Given the description of an element on the screen output the (x, y) to click on. 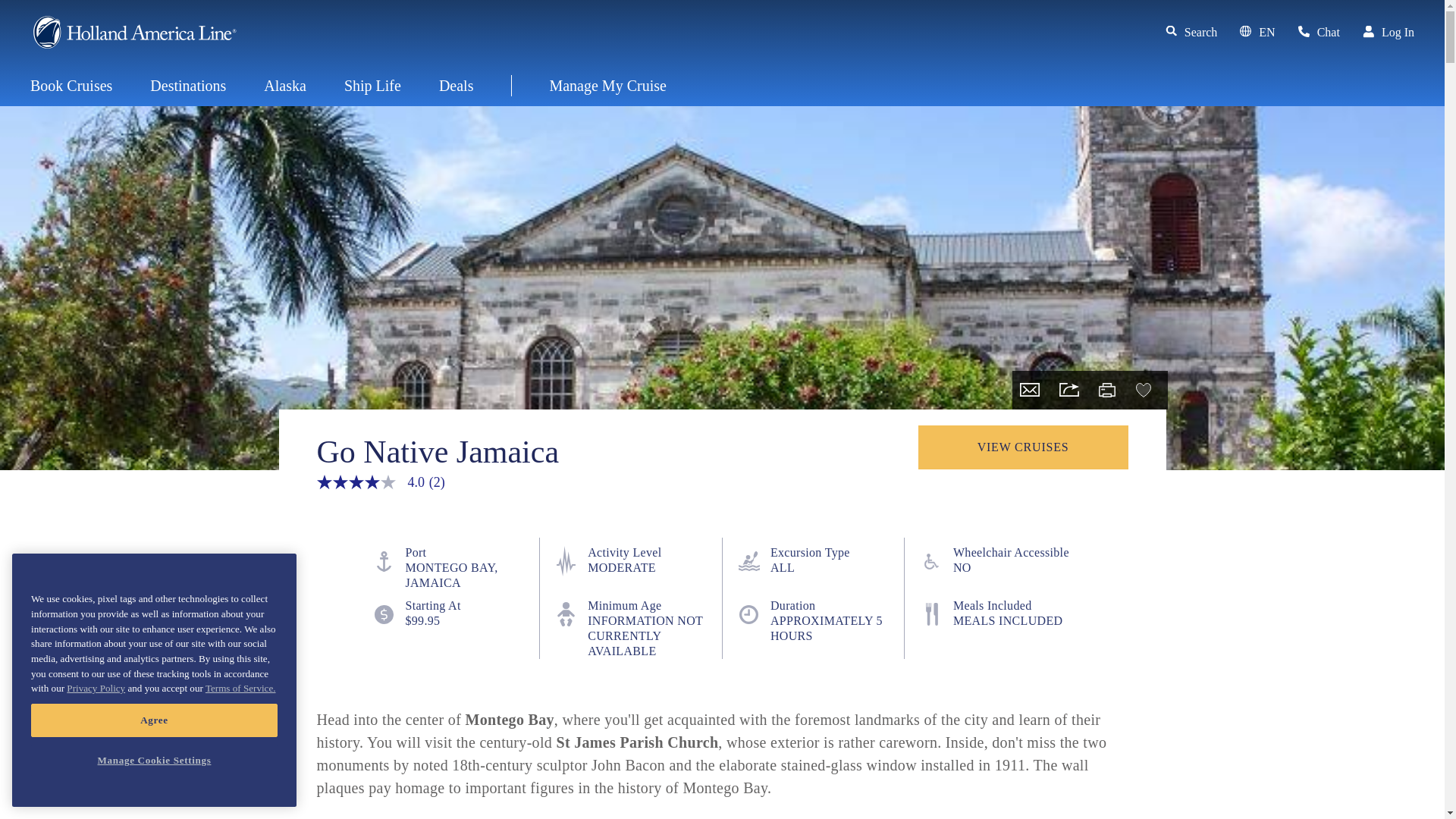
Book Cruises (71, 86)
Chat (1318, 32)
EN (1257, 32)
Search (1191, 32)
Logotype Holland America Line (134, 32)
